Given the description of an element on the screen output the (x, y) to click on. 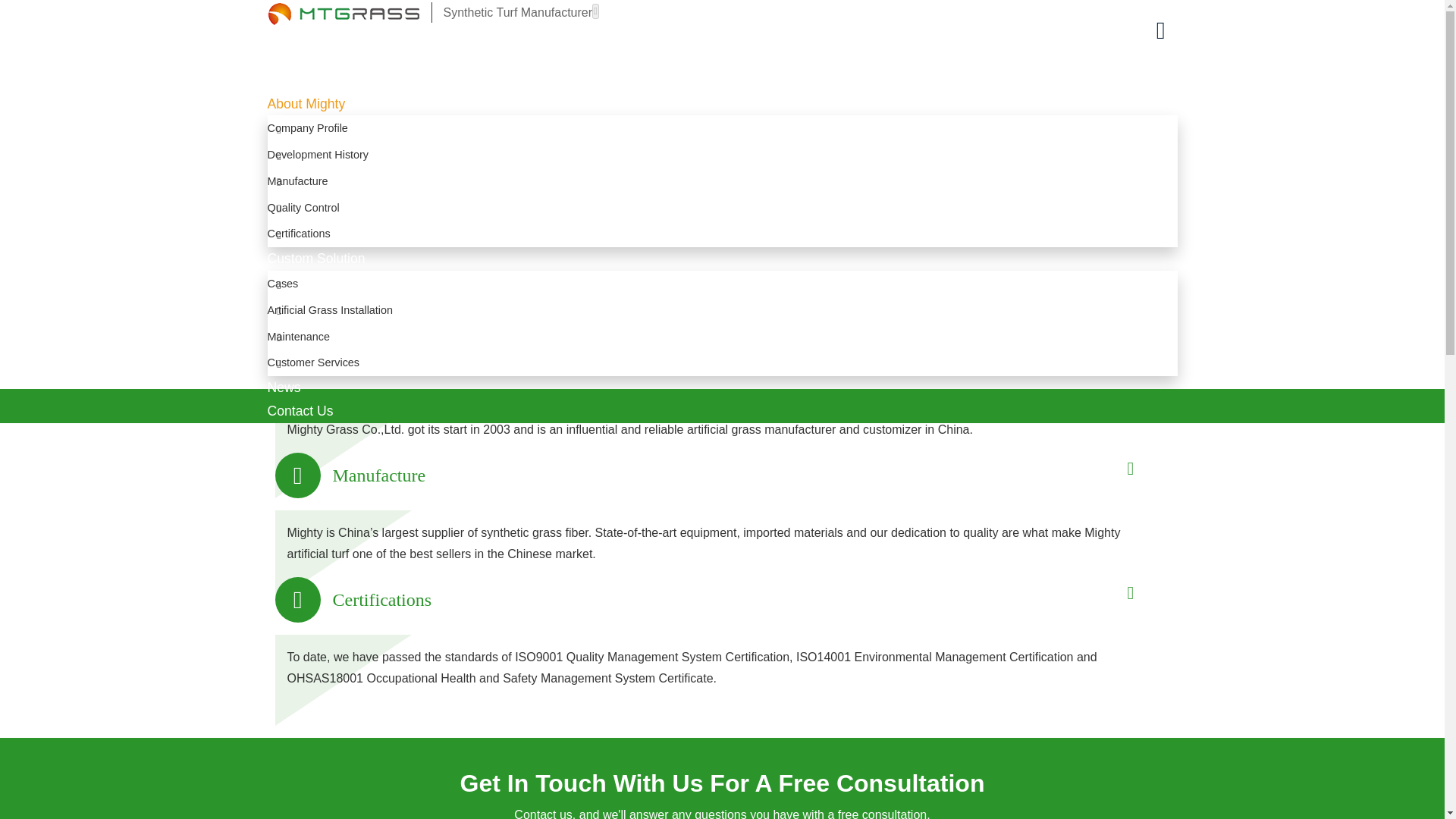
Cases (721, 284)
Contact Us (317, 411)
News (301, 387)
Home (302, 56)
About Mighty (323, 103)
Certifications (721, 234)
Custom Solution (333, 257)
Quality Control (721, 207)
Artificial Grass (327, 80)
Development History (721, 154)
